Given the description of an element on the screen output the (x, y) to click on. 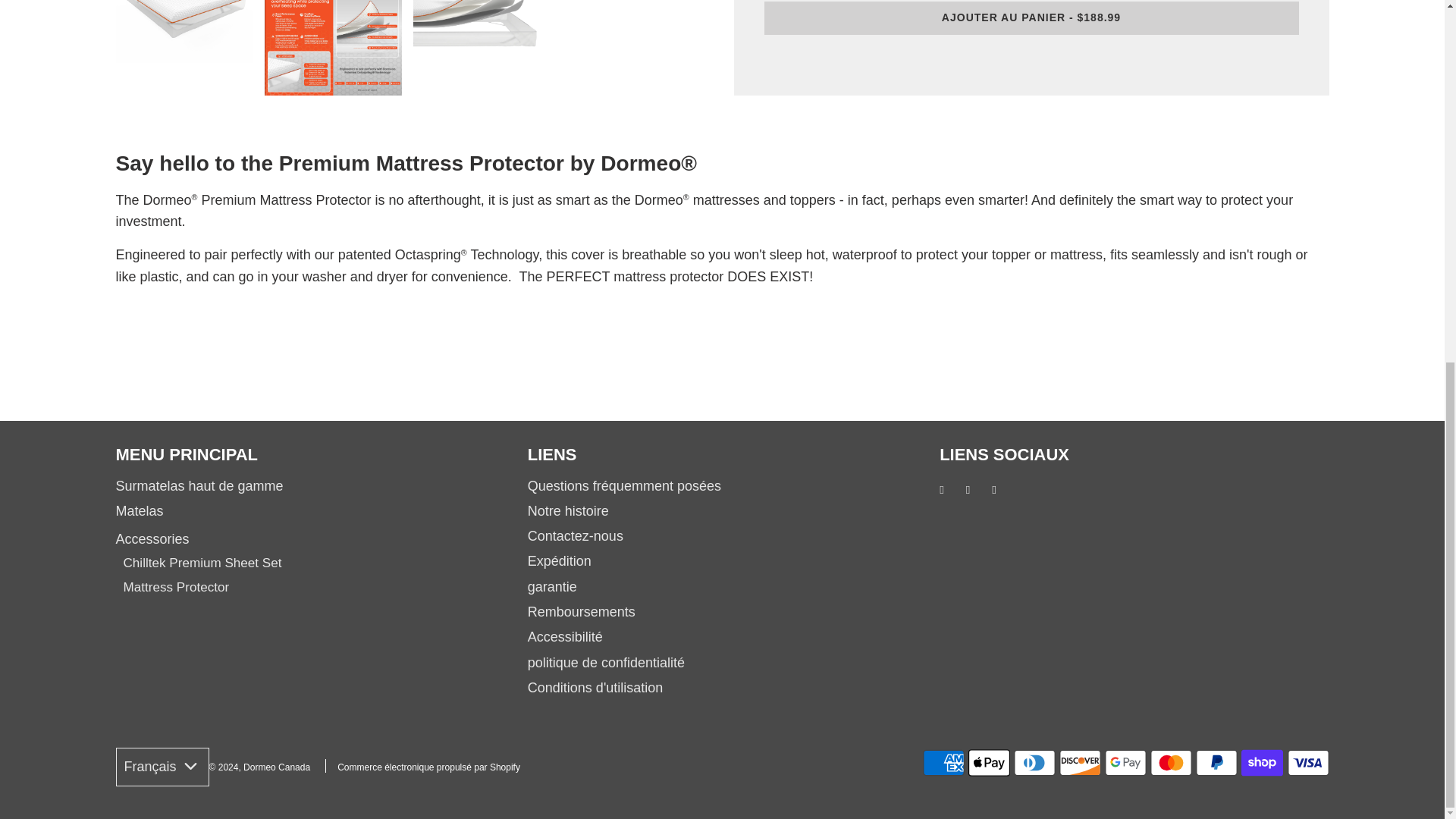
Surmatelas haut de gamme (198, 485)
American Express (943, 762)
Contactez-nous (575, 535)
Accessories (152, 539)
Chilltek Premium Sheet Set (201, 563)
Discover (1079, 762)
Google Pay (1126, 762)
Diners Club (1034, 762)
Apple Pay (989, 762)
PayPal (1216, 762)
Notre histoire (567, 510)
Mattress Protector (175, 586)
Mastercard (1171, 762)
Matelas (139, 510)
